Given the description of an element on the screen output the (x, y) to click on. 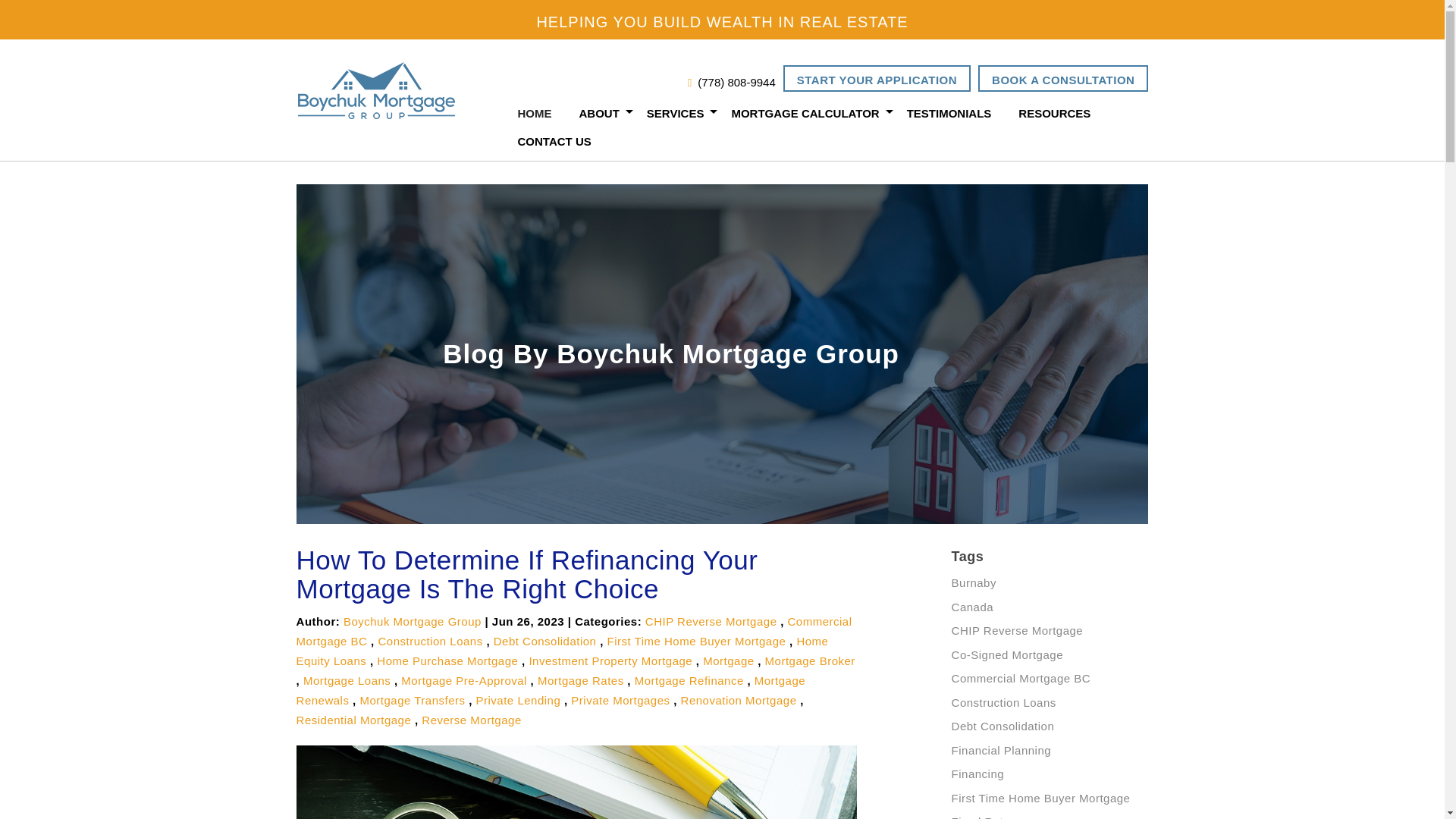
SERVICES (675, 113)
BOOK A CONSULTATION (1063, 78)
HOME (533, 113)
ABOUT (599, 113)
START YOUR APPLICATION (877, 78)
MORTGAGE CALCULATOR (804, 113)
